Given the description of an element on the screen output the (x, y) to click on. 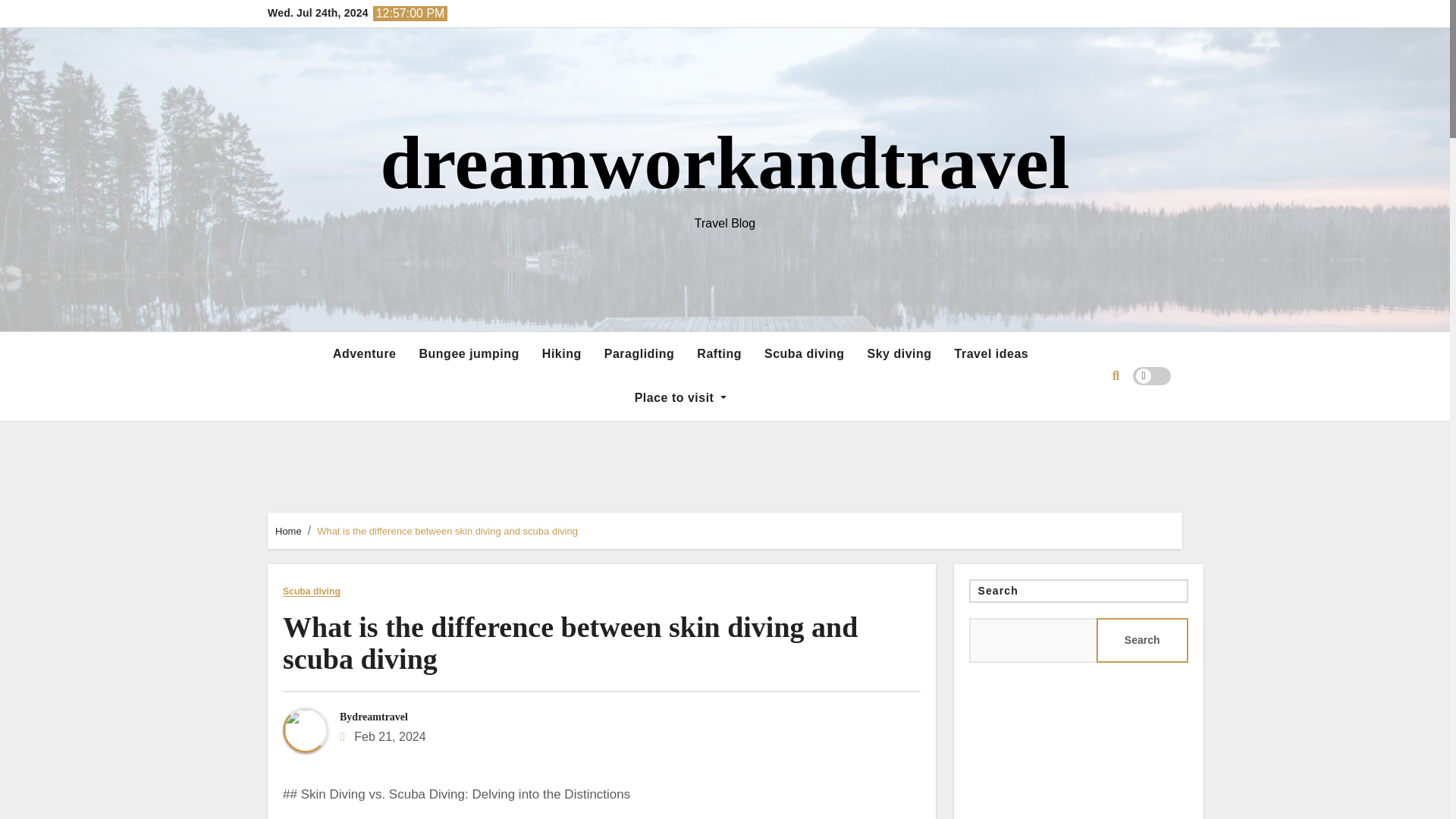
What is the difference between skin diving and scuba diving (569, 642)
Rafting (718, 353)
Scuba diving (311, 592)
Bungee jumping (469, 353)
Hiking (561, 353)
Adventure (364, 353)
Home (288, 531)
dreamworkandtravel (724, 162)
Sky diving (899, 353)
Hiking (561, 353)
Travel ideas (992, 353)
Adventure (364, 353)
Place to visit (680, 397)
Rafting (718, 353)
What is the difference between skin diving and scuba diving (447, 531)
